Given the description of an element on the screen output the (x, y) to click on. 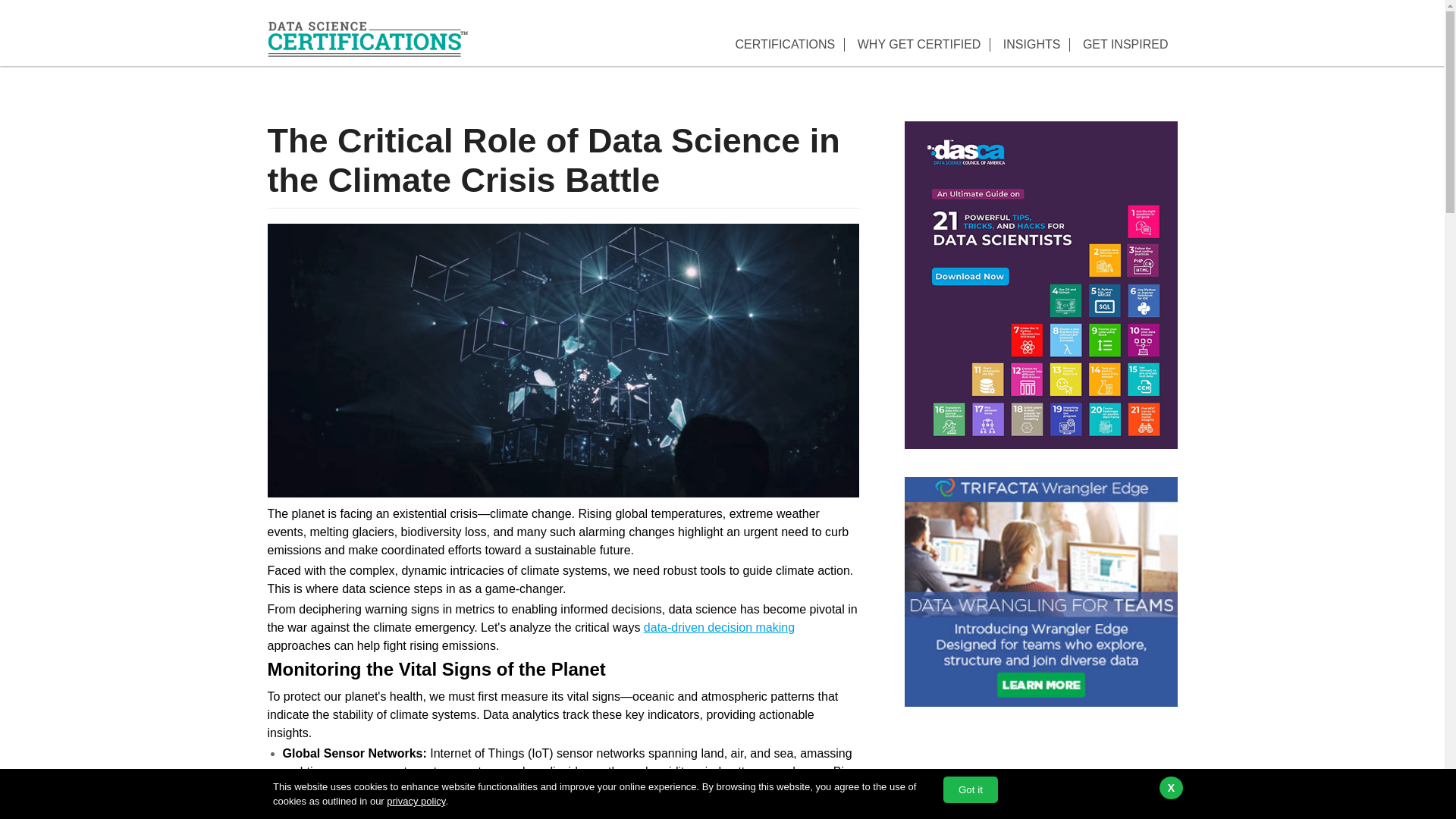
Certifications (784, 44)
Why Get Certified (919, 44)
INSIGHTS (1032, 44)
CERTIFICATIONS (784, 44)
GET INSPIRED (1125, 44)
WHY GET CERTIFIED (919, 44)
Data Science Certifications (366, 37)
Insights (1032, 44)
Get Inspired (1125, 44)
Wrangler Edge (1040, 591)
